Given the description of an element on the screen output the (x, y) to click on. 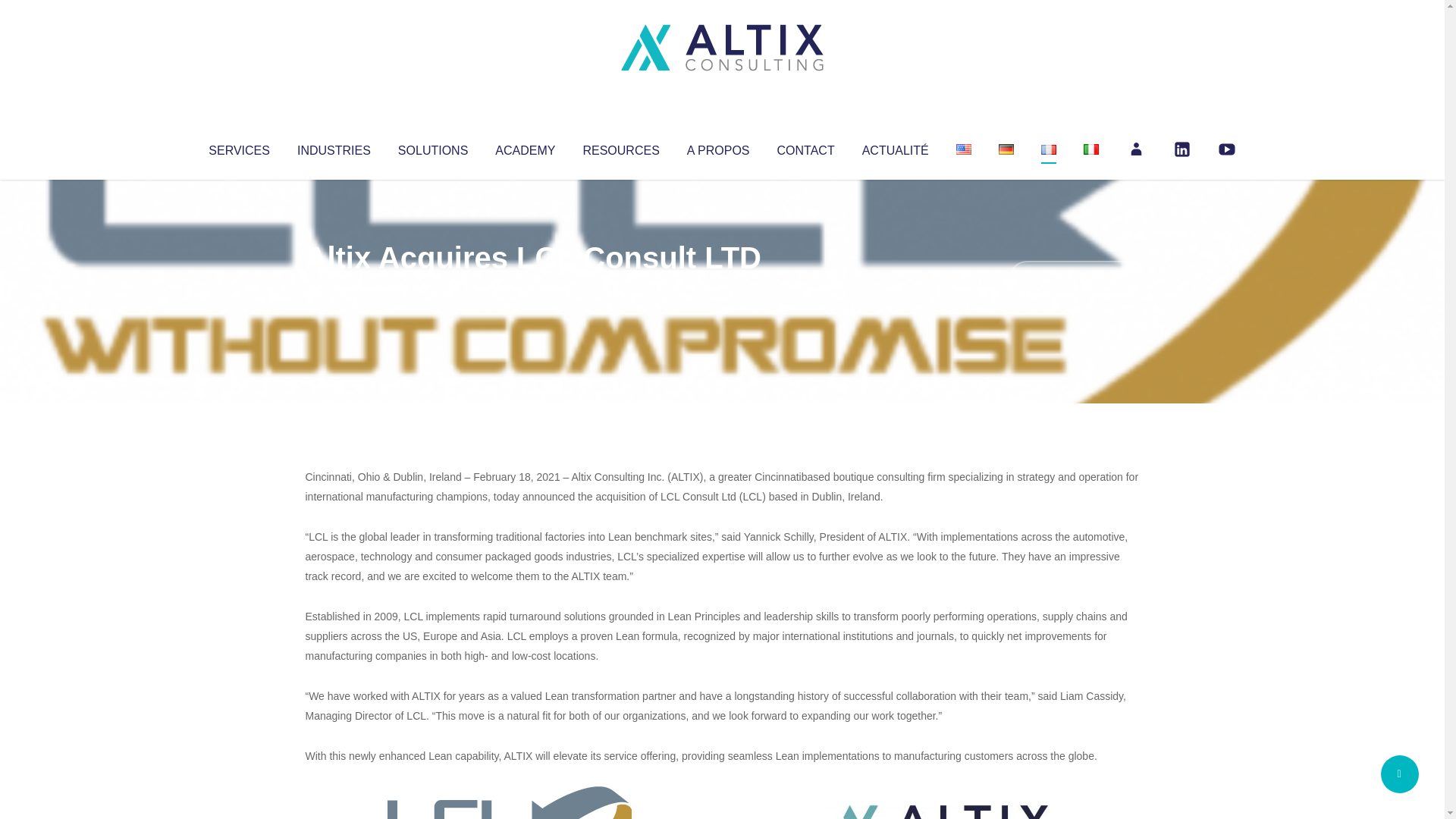
SOLUTIONS (432, 146)
No Comments (1073, 278)
ACADEMY (524, 146)
Altix (333, 287)
Articles par Altix (333, 287)
SERVICES (238, 146)
INDUSTRIES (334, 146)
RESOURCES (620, 146)
A PROPOS (718, 146)
Uncategorized (530, 287)
